Given the description of an element on the screen output the (x, y) to click on. 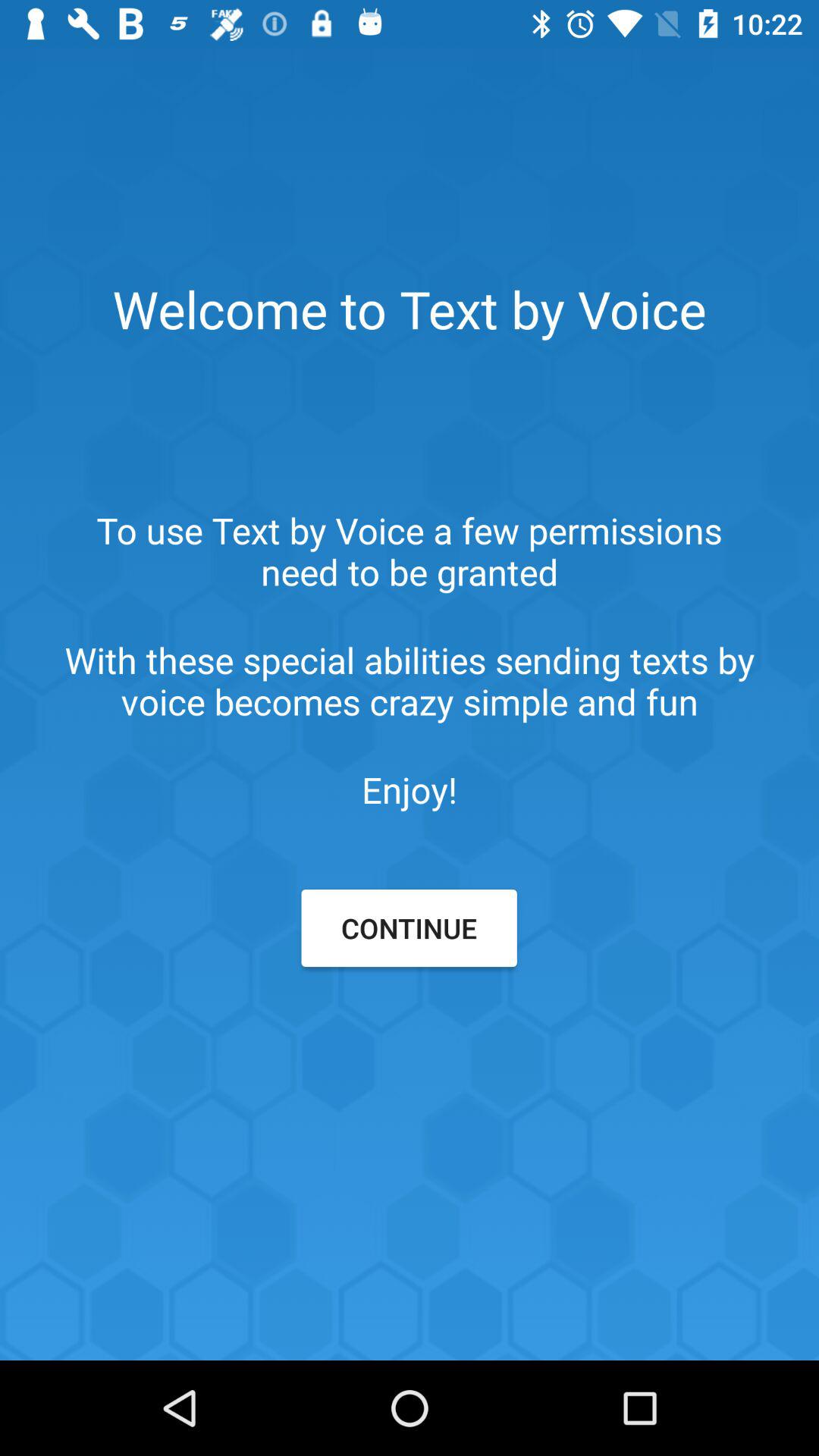
launch continue (408, 927)
